Given the description of an element on the screen output the (x, y) to click on. 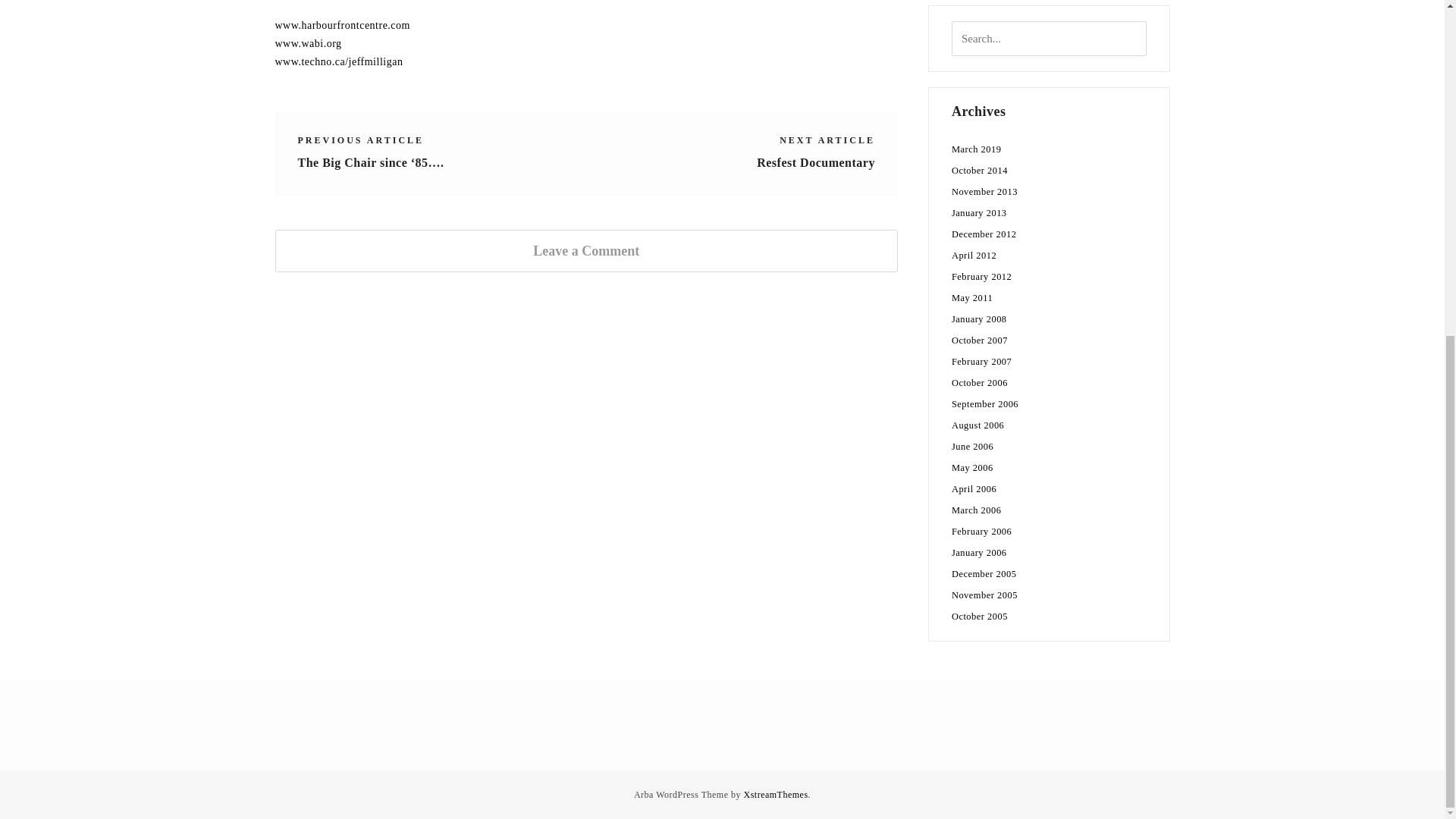
January 2008 (979, 318)
www.harbourfrontcentre.com (342, 25)
February 2012 (981, 276)
October 2014 (979, 170)
December 2012 (984, 234)
April 2012 (973, 255)
www.wabi.org (307, 43)
Resfest Documentary (816, 162)
October 2006 (979, 382)
November 2013 (984, 191)
October 2007 (979, 339)
January 2013 (979, 213)
March 2019 (976, 149)
Leave a Comment (585, 250)
February 2007 (981, 361)
